Given the description of an element on the screen output the (x, y) to click on. 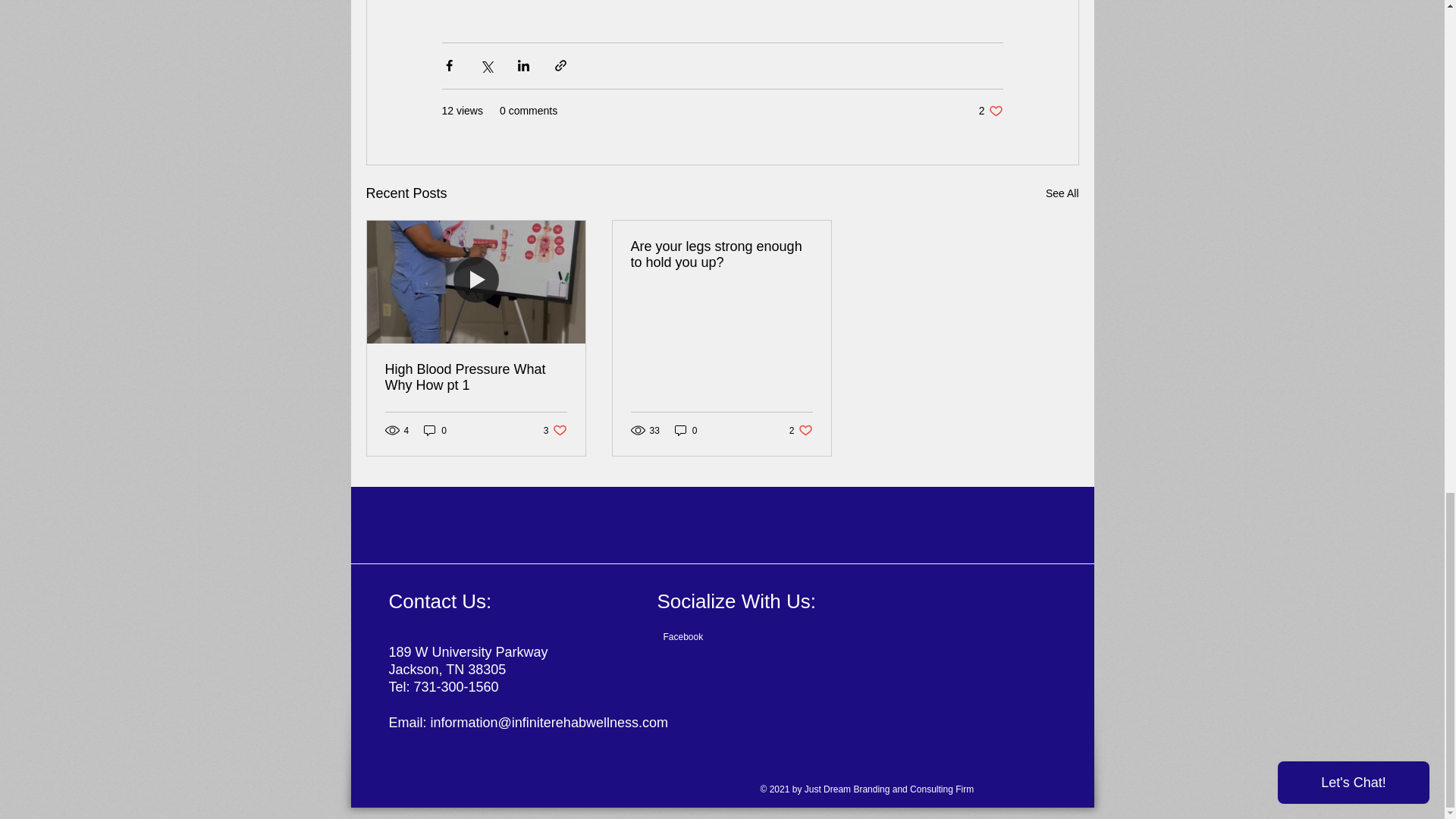
Are your legs strong enough to hold you up? (721, 255)
High Blood Pressure What Why How pt 1 (555, 430)
See All (476, 377)
0 (990, 110)
0 (1061, 193)
